Given the description of an element on the screen output the (x, y) to click on. 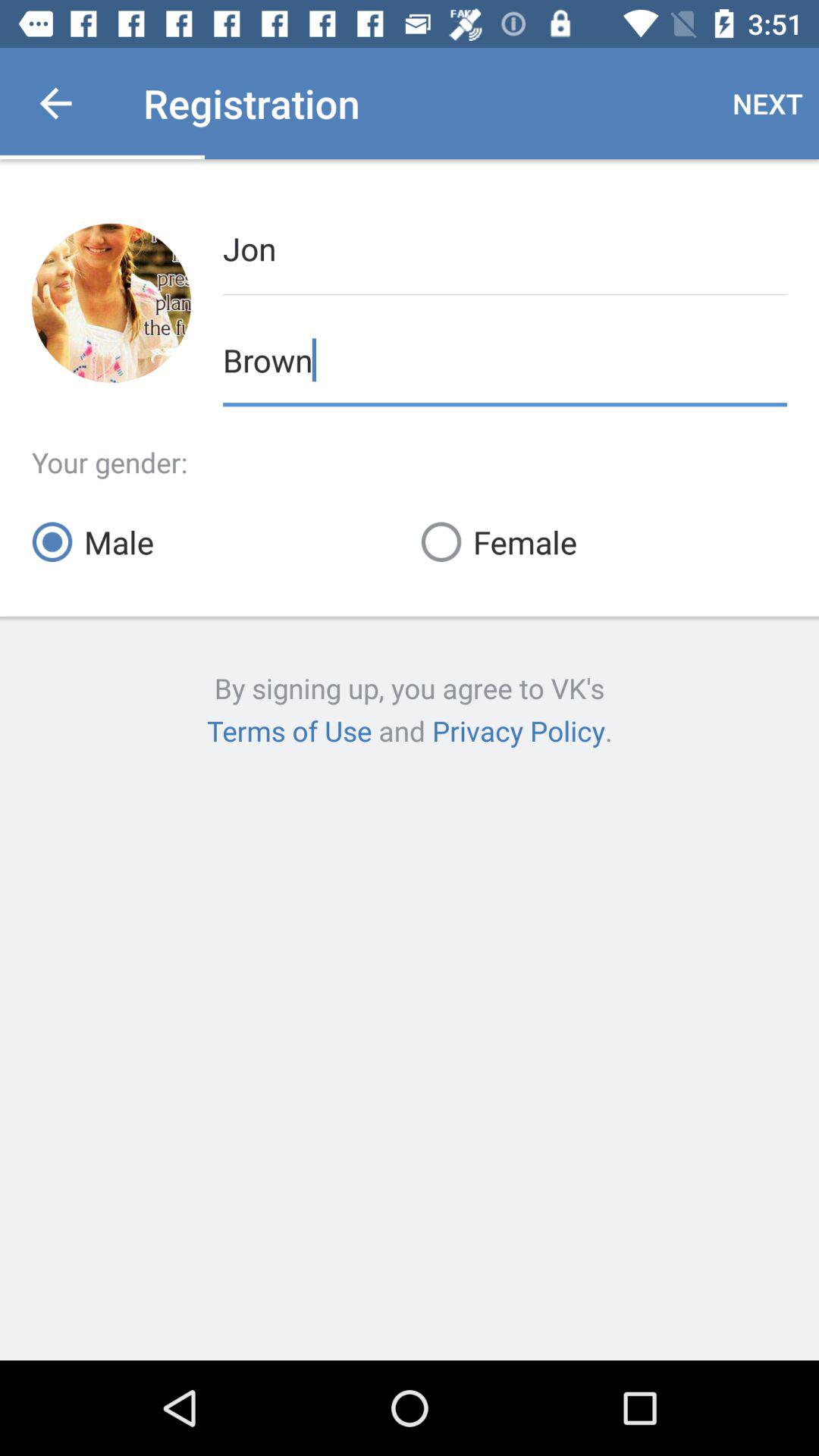
launch jon item (504, 247)
